Given the description of an element on the screen output the (x, y) to click on. 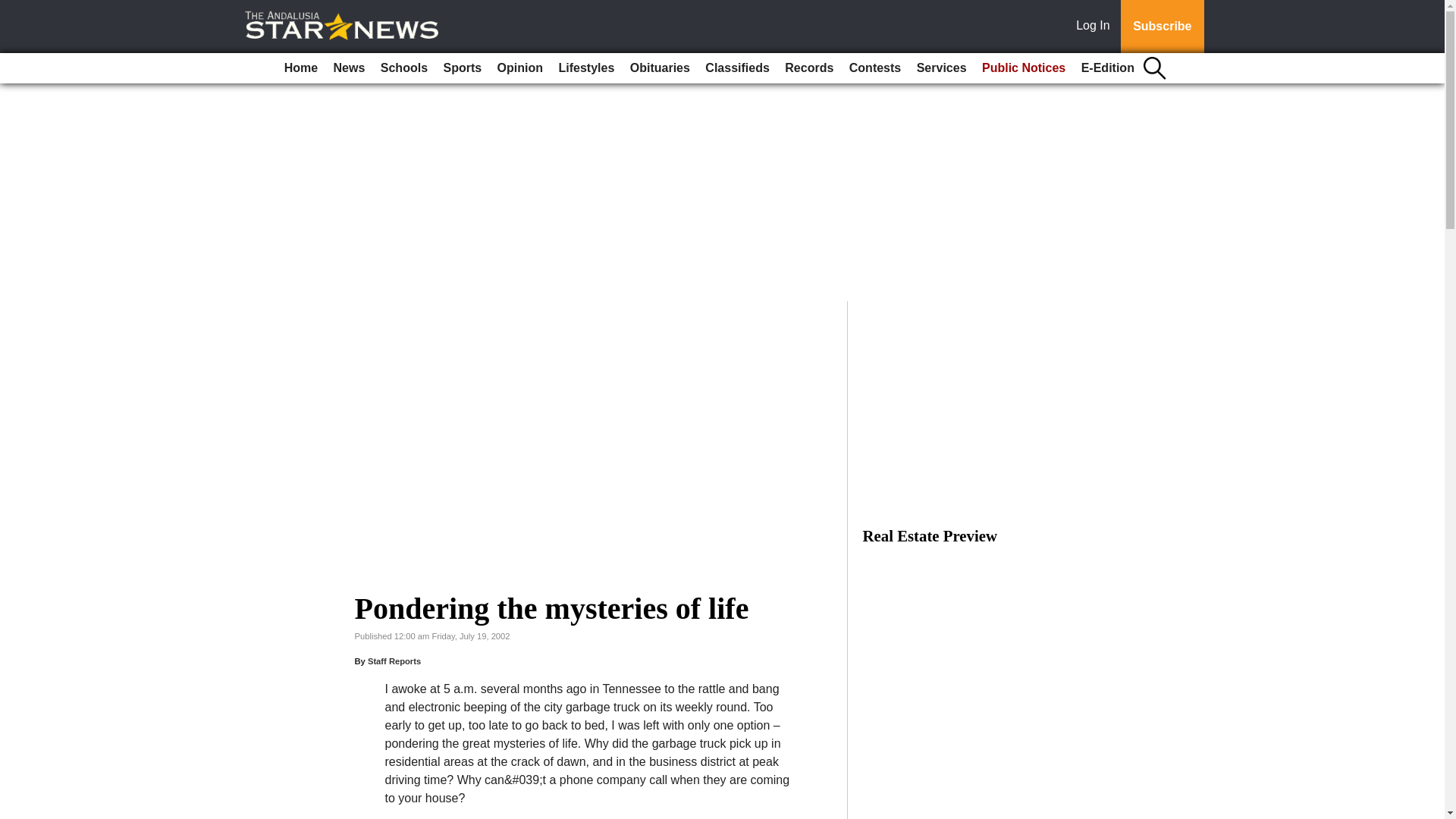
Opinion (520, 68)
Subscribe (1162, 26)
Log In (1095, 26)
Staff Reports (394, 660)
News (349, 68)
Services (941, 68)
Home (300, 68)
Records (809, 68)
Public Notices (1023, 68)
Lifestyles (585, 68)
Schools (403, 68)
Classifieds (736, 68)
Obituaries (659, 68)
E-Edition (1107, 68)
Sports (461, 68)
